Given the description of an element on the screen output the (x, y) to click on. 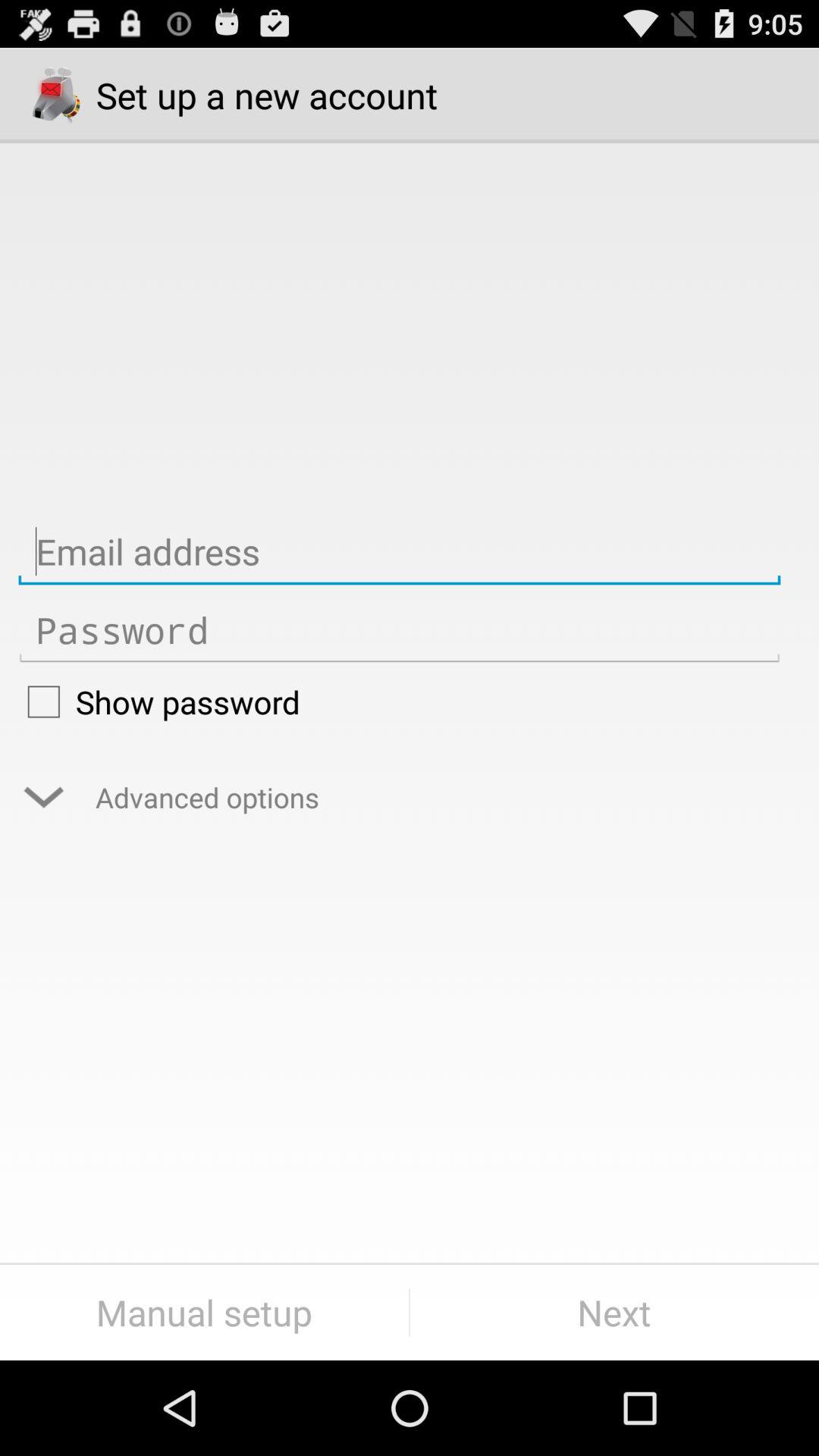
enter email address (399, 552)
